Given the description of an element on the screen output the (x, y) to click on. 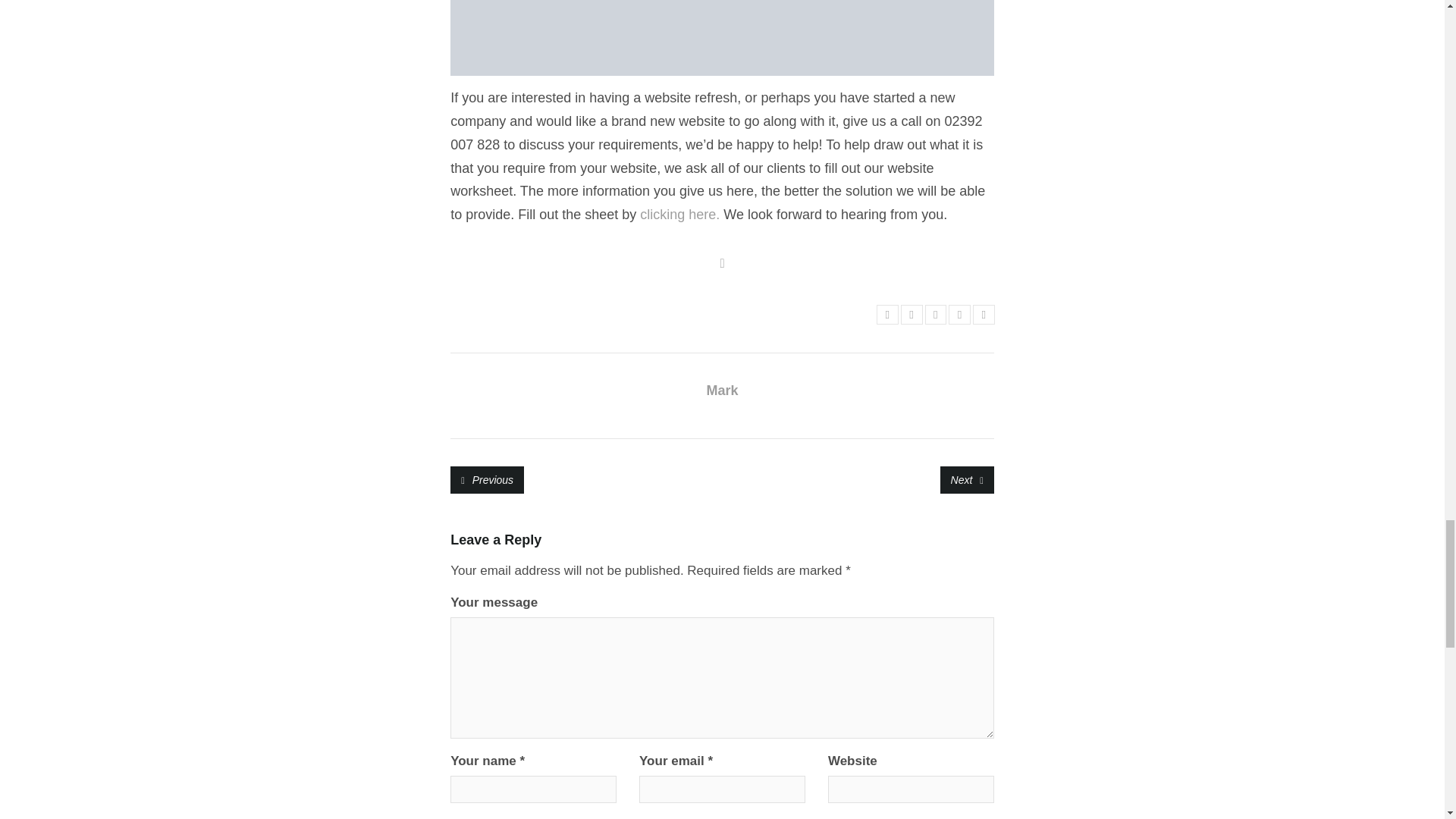
Previous (486, 479)
Next (967, 479)
Mark (722, 390)
clicking here. (679, 214)
